Given the description of an element on the screen output the (x, y) to click on. 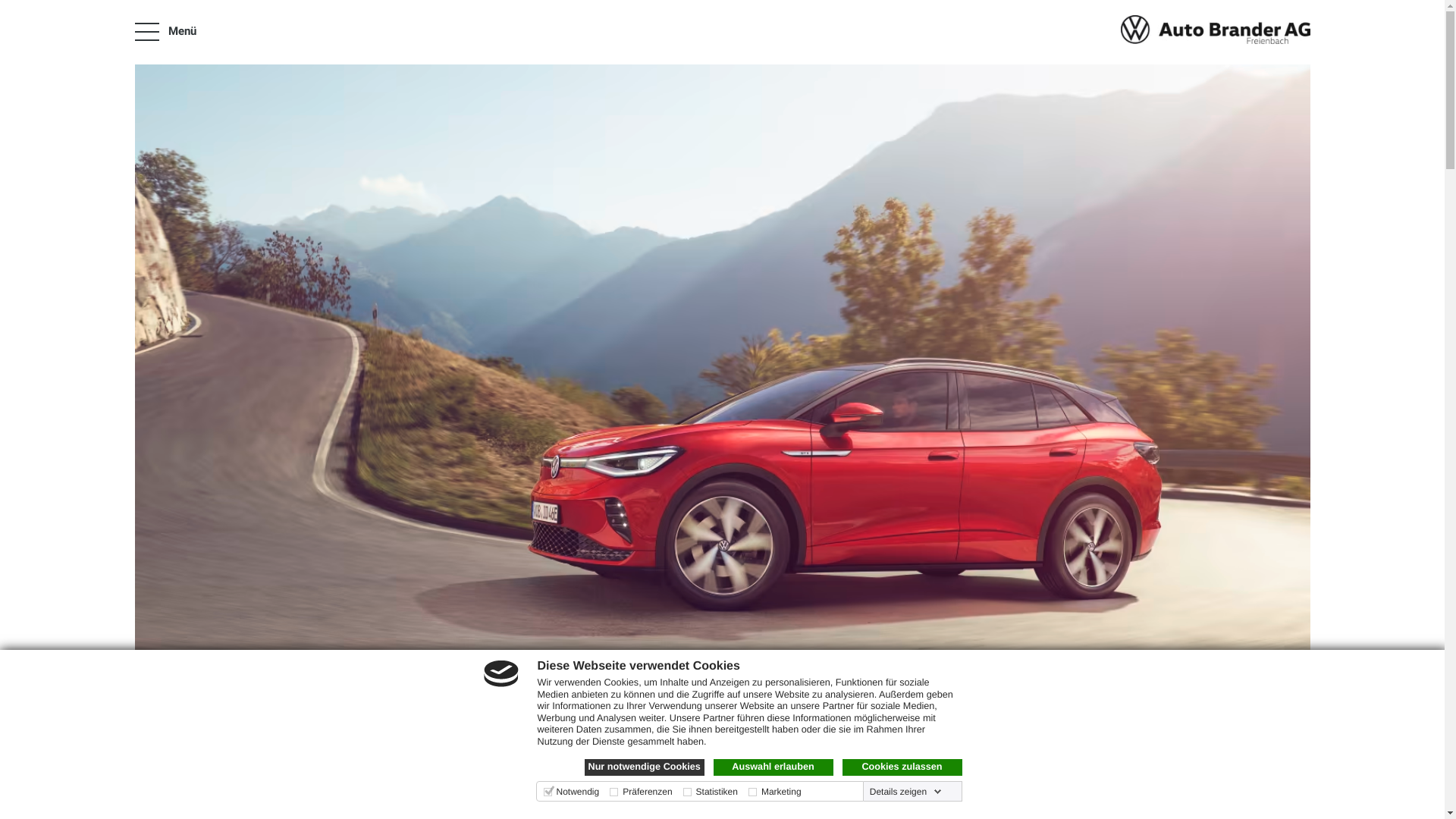
Nur notwendige Cookies Element type: text (643, 767)
Cookies zulassen Element type: text (901, 767)
Details zeigen Element type: text (905, 791)
Auswahl erlauben Element type: text (772, 767)
